Given the description of an element on the screen output the (x, y) to click on. 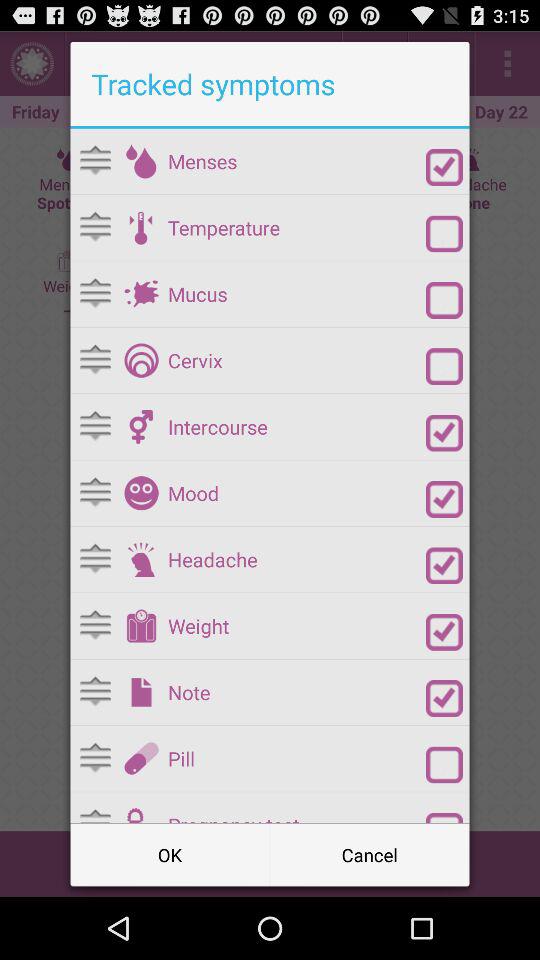
temperature (141, 227)
